Given the description of an element on the screen output the (x, y) to click on. 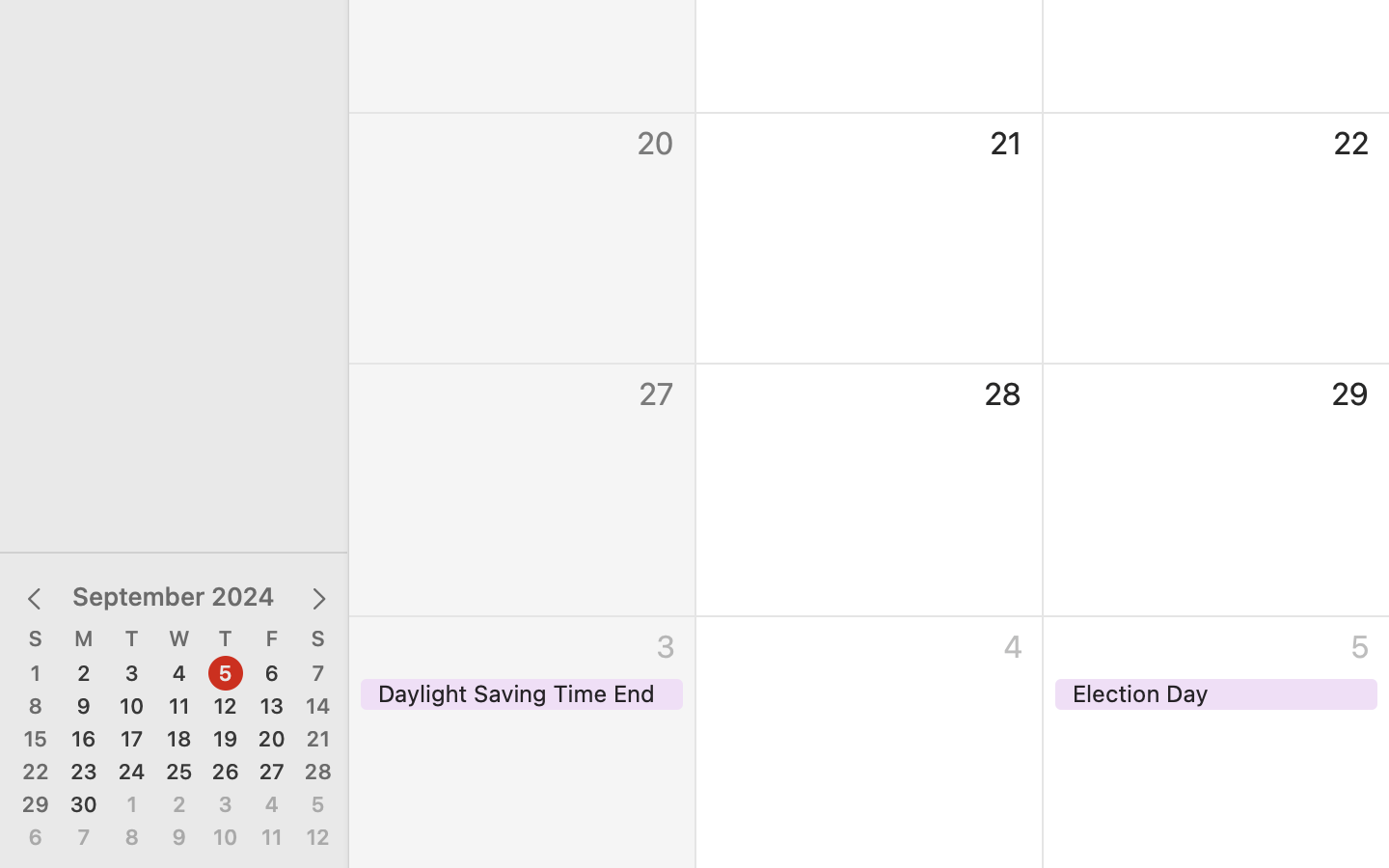
2 Element type: AXStaticText (83, 673)
26 Element type: AXStaticText (225, 772)
3 Element type: AXStaticText (132, 673)
25 Element type: AXStaticText (179, 772)
19 Element type: AXStaticText (225, 739)
